Given the description of an element on the screen output the (x, y) to click on. 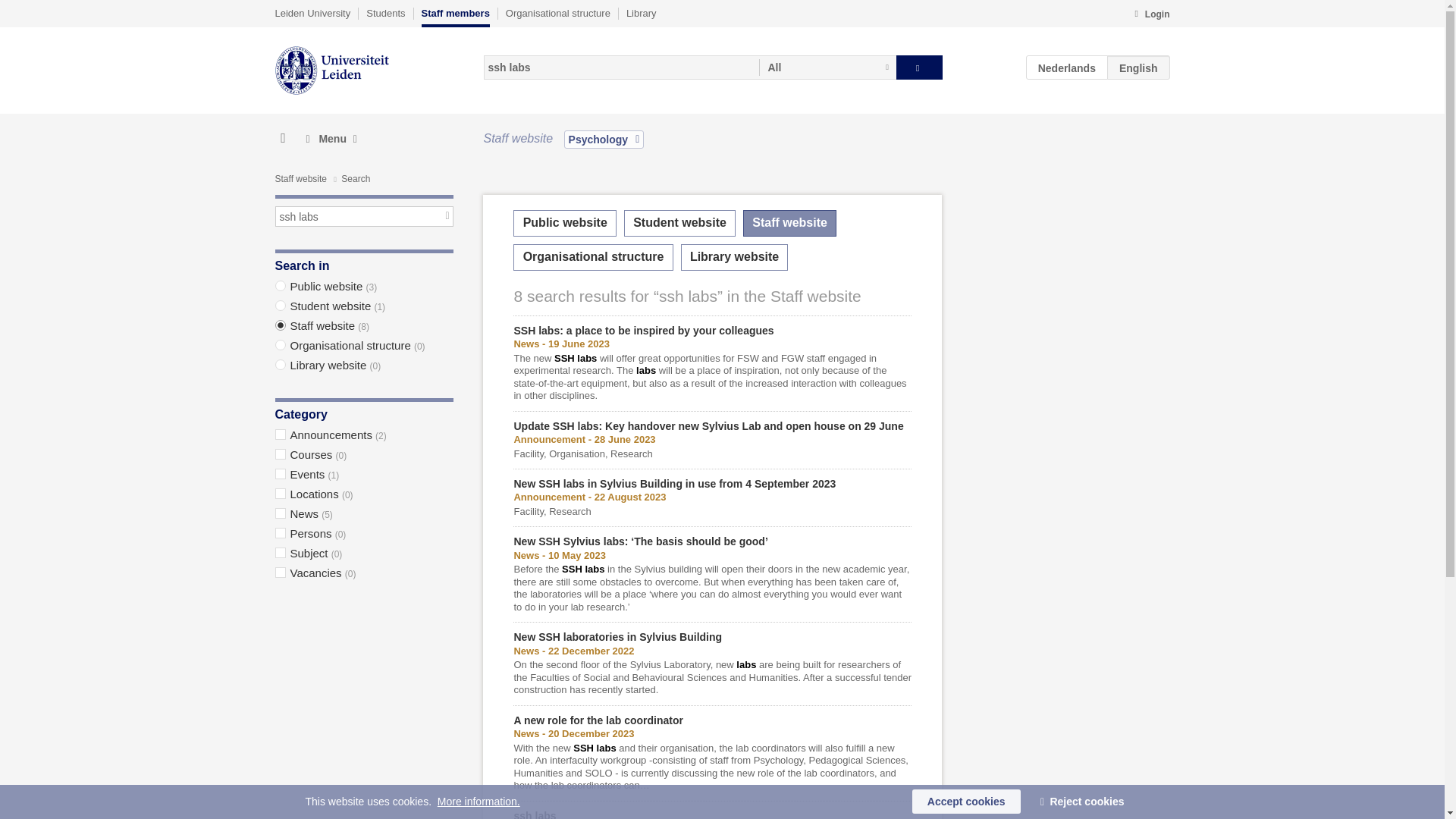
Students (385, 13)
Search (919, 67)
NL (1067, 67)
Library (641, 13)
ssh labs (363, 216)
ssh labs (620, 67)
All (827, 67)
Login (1151, 14)
Psychology (604, 139)
Organisational structure (557, 13)
ssh labs (620, 67)
Leiden University (312, 13)
ssh labs (363, 216)
Menu (330, 139)
Staff members (455, 17)
